Given the description of an element on the screen output the (x, y) to click on. 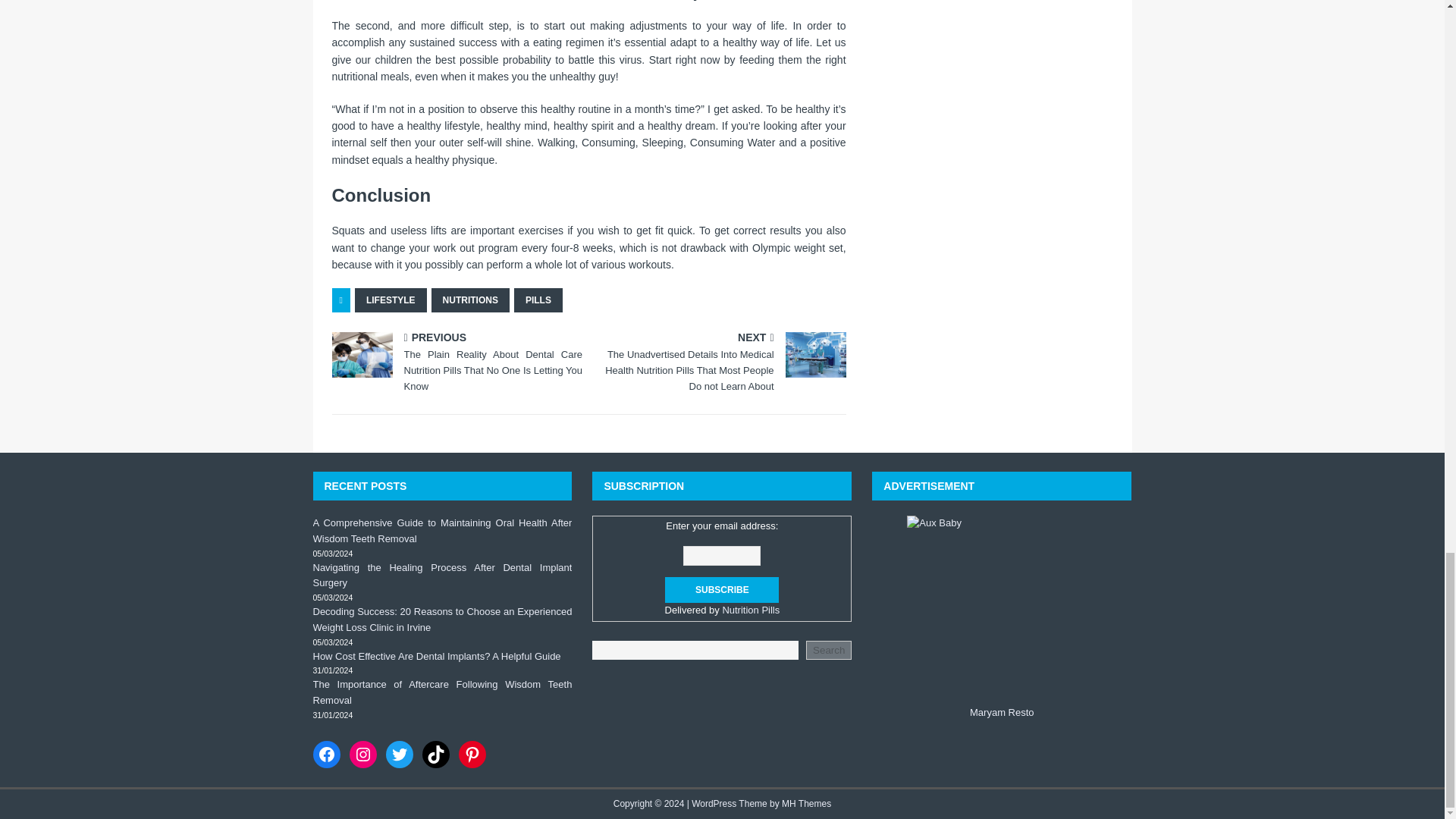
Subscribe (721, 589)
NUTRITIONS (469, 300)
PILLS (537, 300)
LIFESTYLE (390, 300)
